Given the description of an element on the screen output the (x, y) to click on. 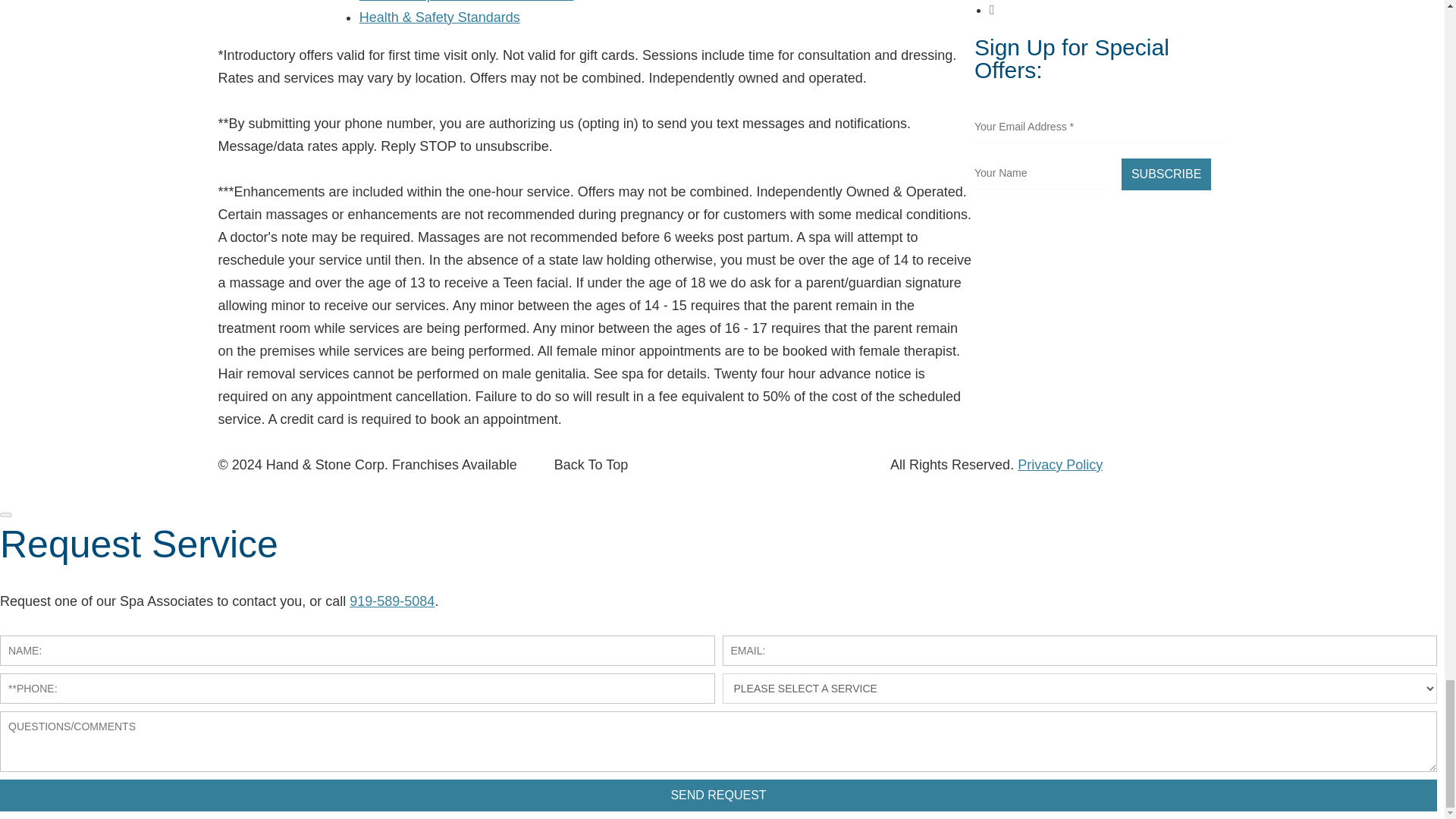
Subscribe (1166, 174)
Back To Top (590, 464)
